Given the description of an element on the screen output the (x, y) to click on. 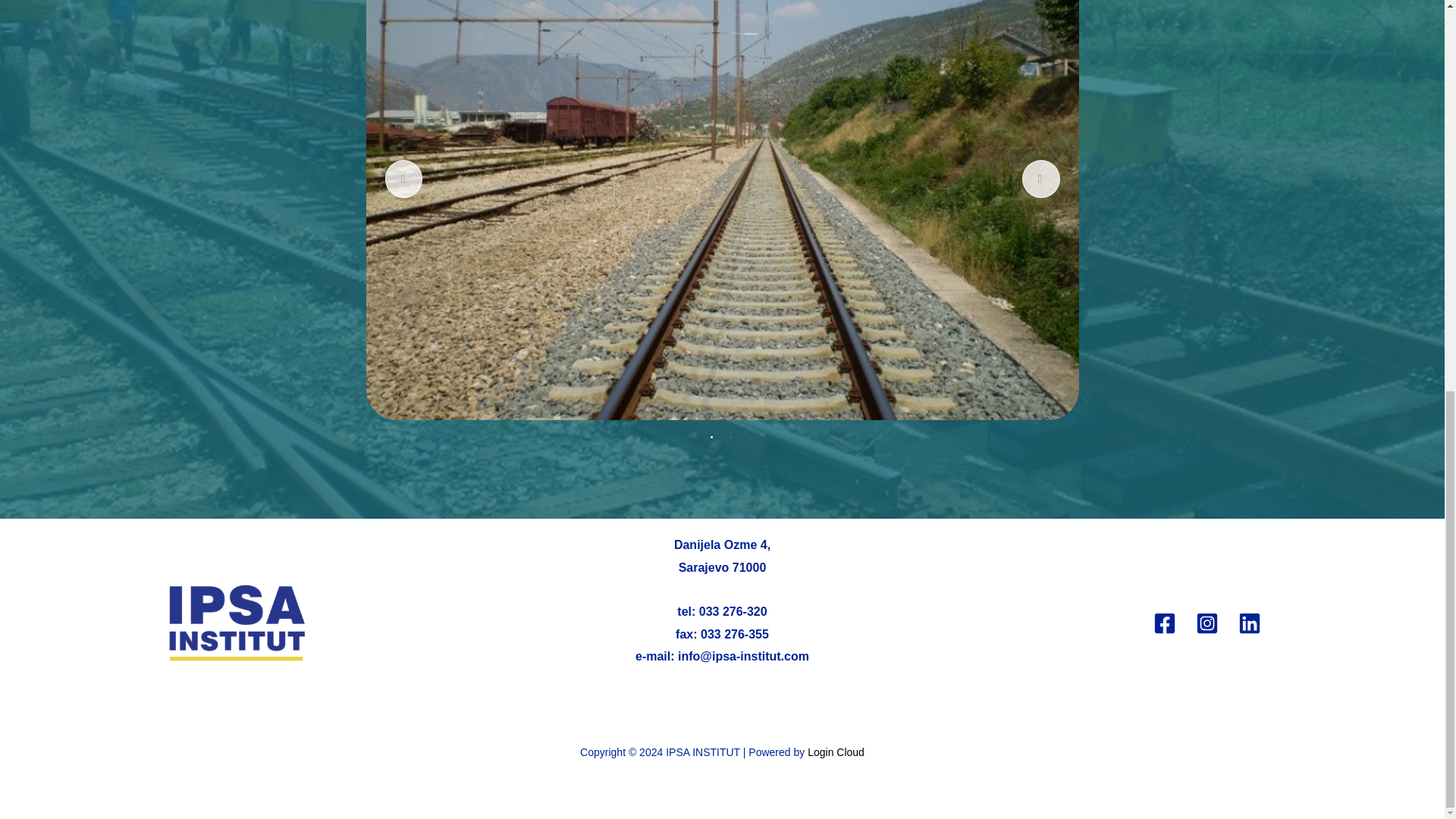
2 (731, 437)
1 (712, 437)
